Given the description of an element on the screen output the (x, y) to click on. 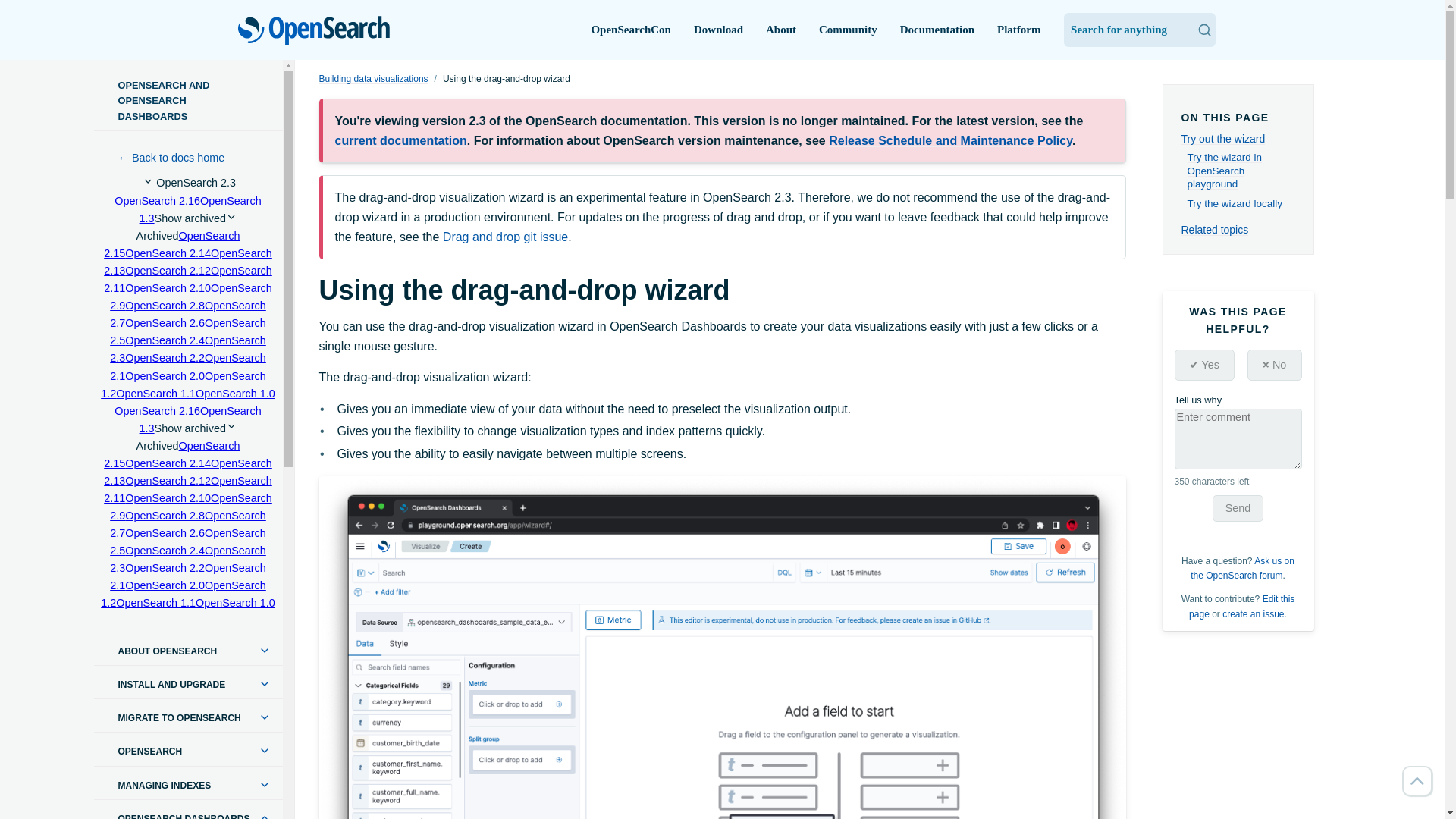
Documentation (936, 29)
OpenSearch (314, 31)
Community (847, 29)
About (780, 29)
Platform (1019, 29)
OpenSearchCon (631, 29)
Download (718, 29)
